Given the description of an element on the screen output the (x, y) to click on. 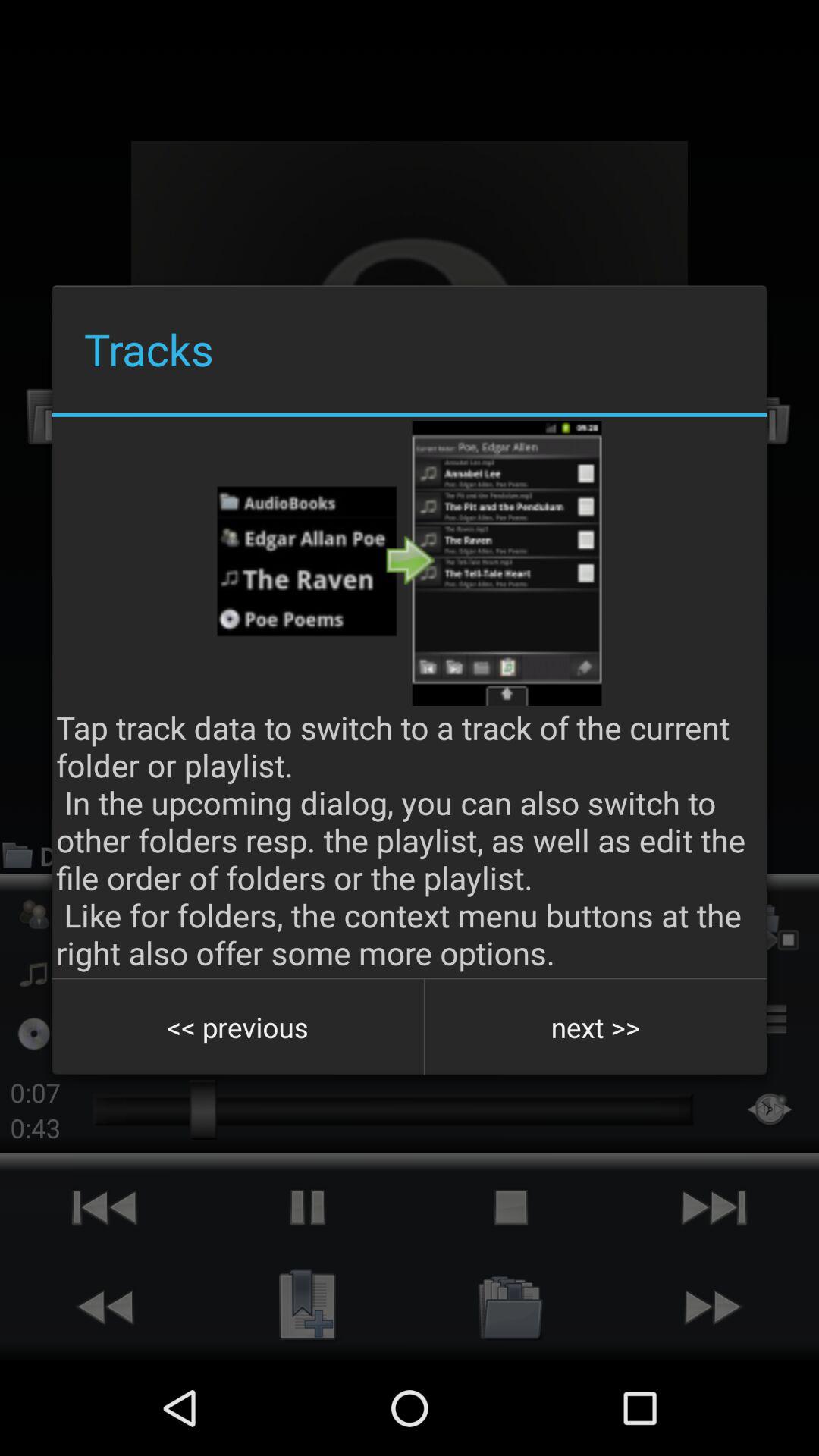
press the icon below the tap track data (237, 1026)
